Given the description of an element on the screen output the (x, y) to click on. 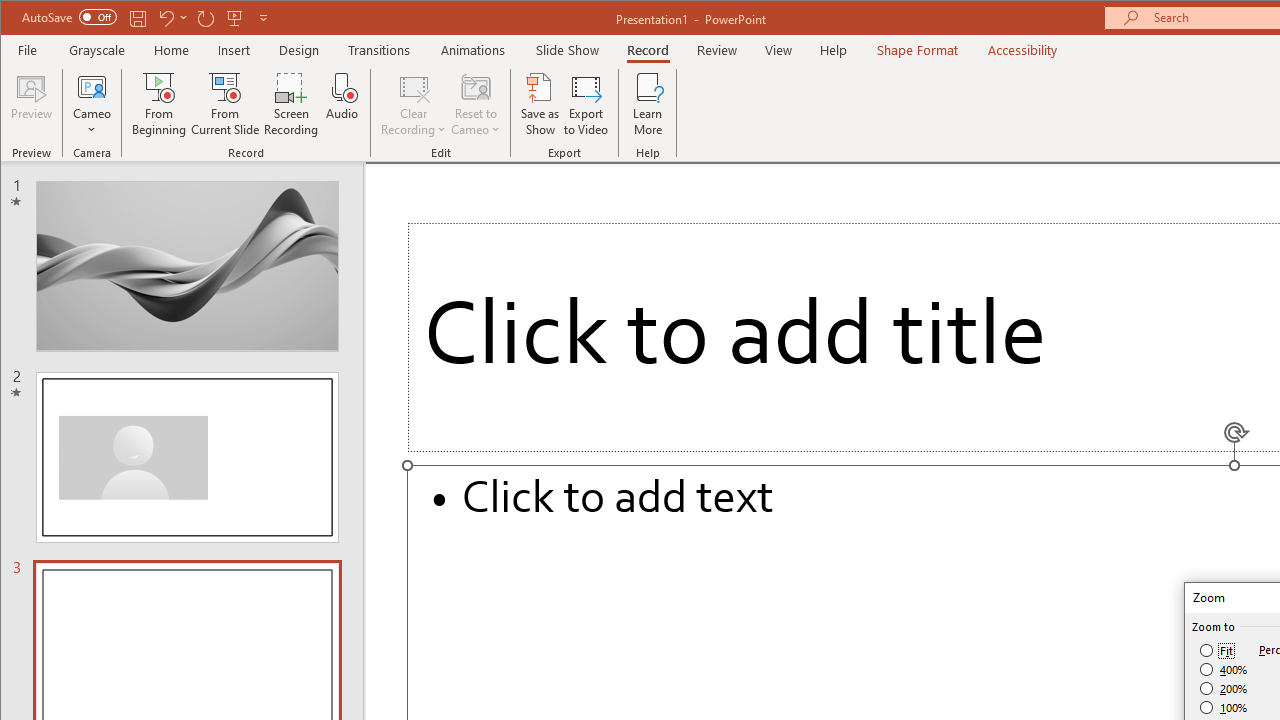
Audio (342, 104)
From Beginning... (159, 104)
Export to Video (585, 104)
From Current Slide... (225, 104)
Screen Recording (291, 104)
